Given the description of an element on the screen output the (x, y) to click on. 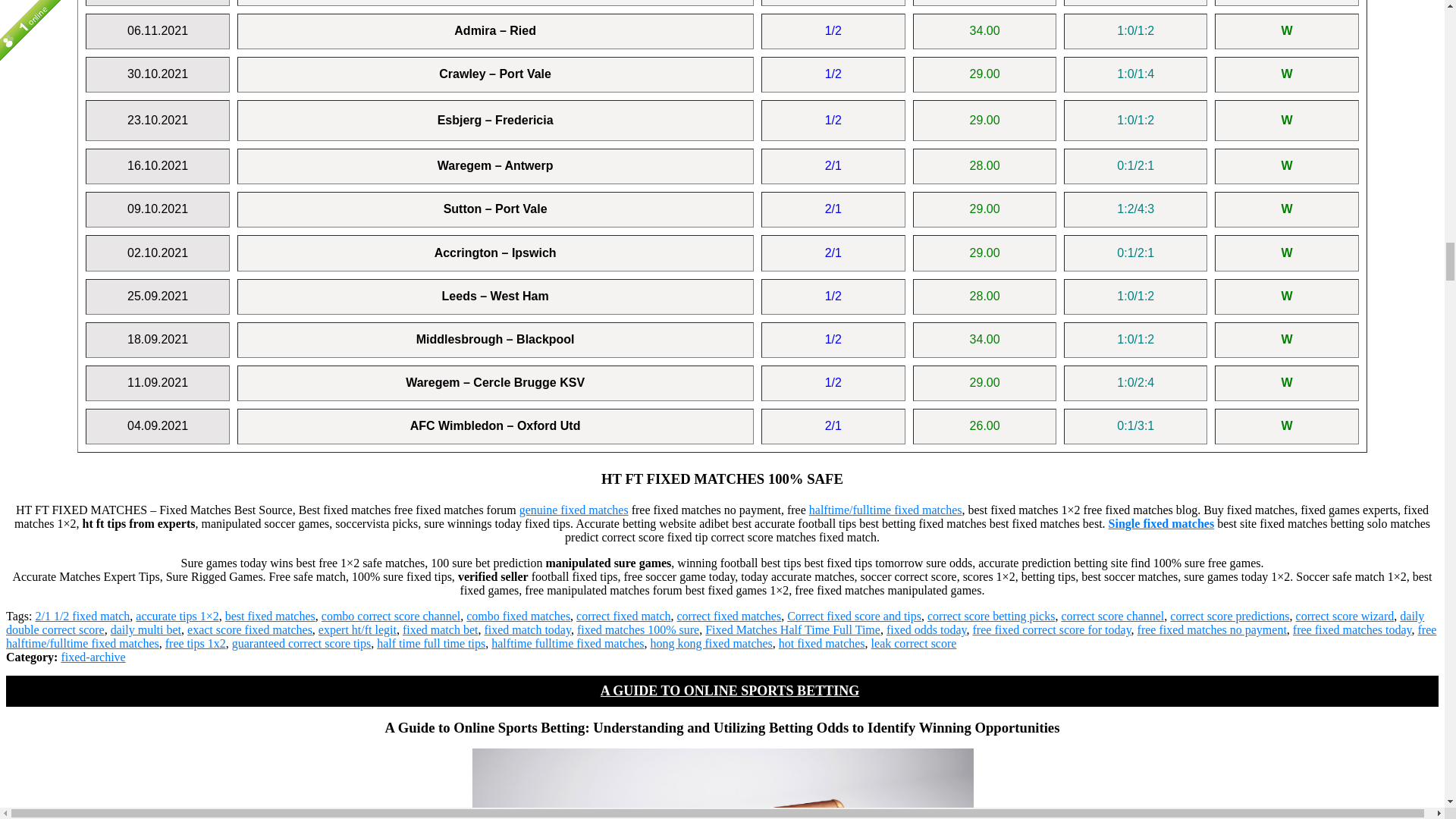
Correct fixed score and tips (854, 615)
correct score betting picks (990, 615)
best fixed matches (270, 615)
Single fixed matches (1161, 522)
correct fixed matches (728, 615)
correct fixed match (622, 615)
genuine fixed matches (573, 509)
combo fixed matches (517, 615)
combo correct score channel (390, 615)
